Given the description of an element on the screen output the (x, y) to click on. 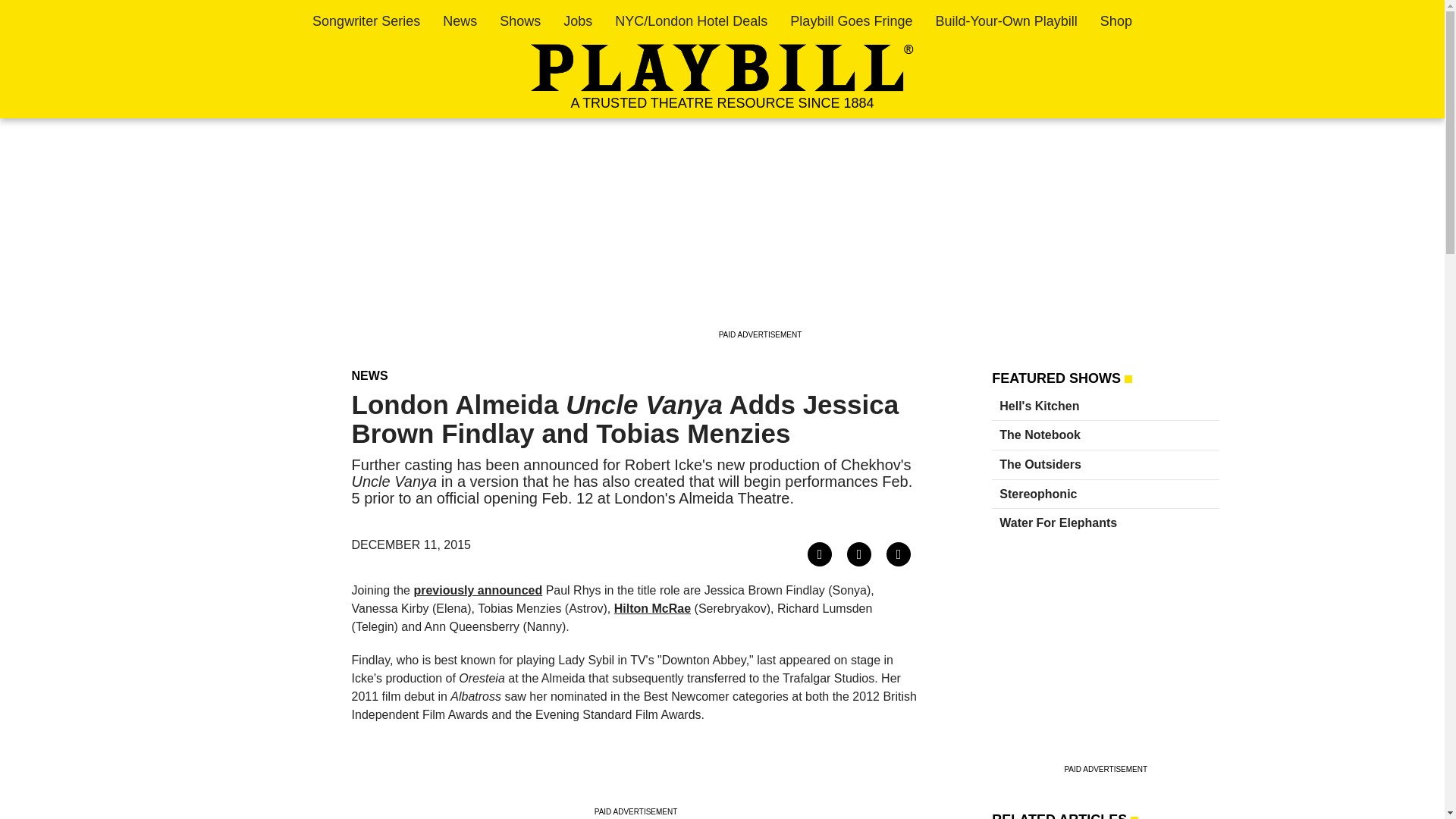
Songwriter Series (366, 20)
Jobs (577, 20)
Build-Your-Own Playbill (1005, 20)
Shows (519, 20)
Playbill Goes Fringe (851, 20)
Shop (1116, 20)
News (459, 20)
